Given the description of an element on the screen output the (x, y) to click on. 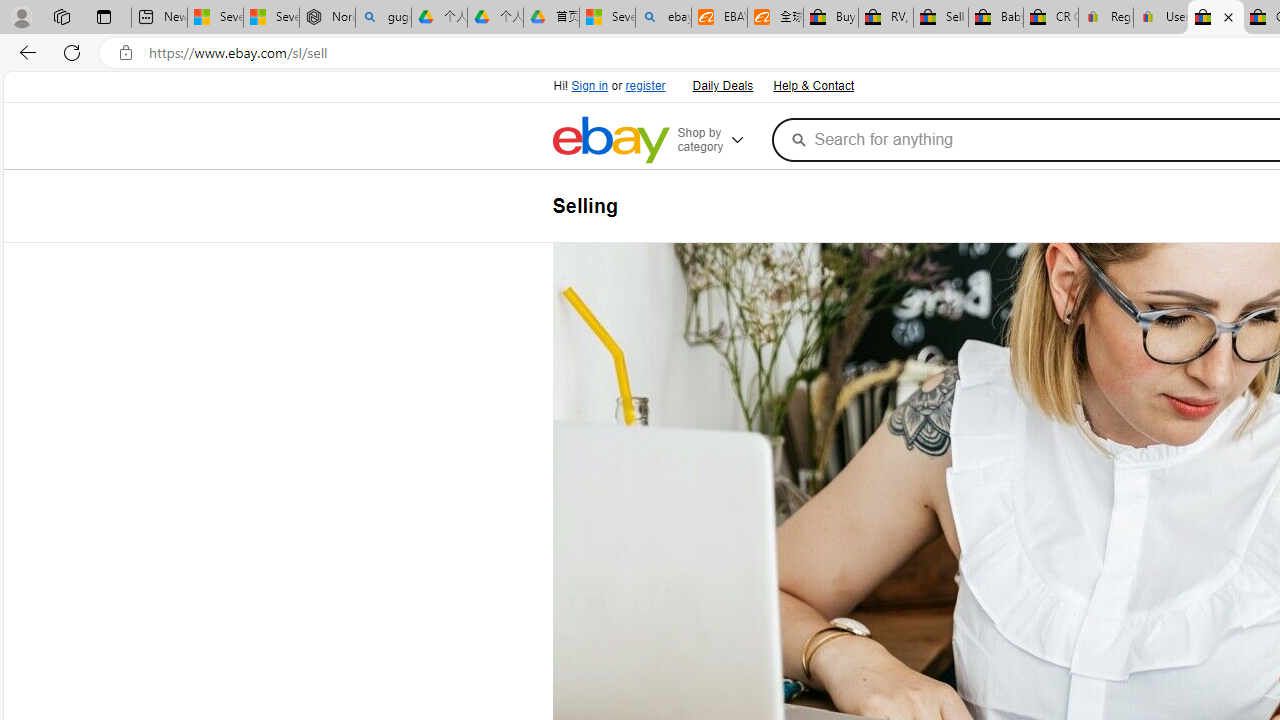
Help & Contact (811, 84)
